Given the description of an element on the screen output the (x, y) to click on. 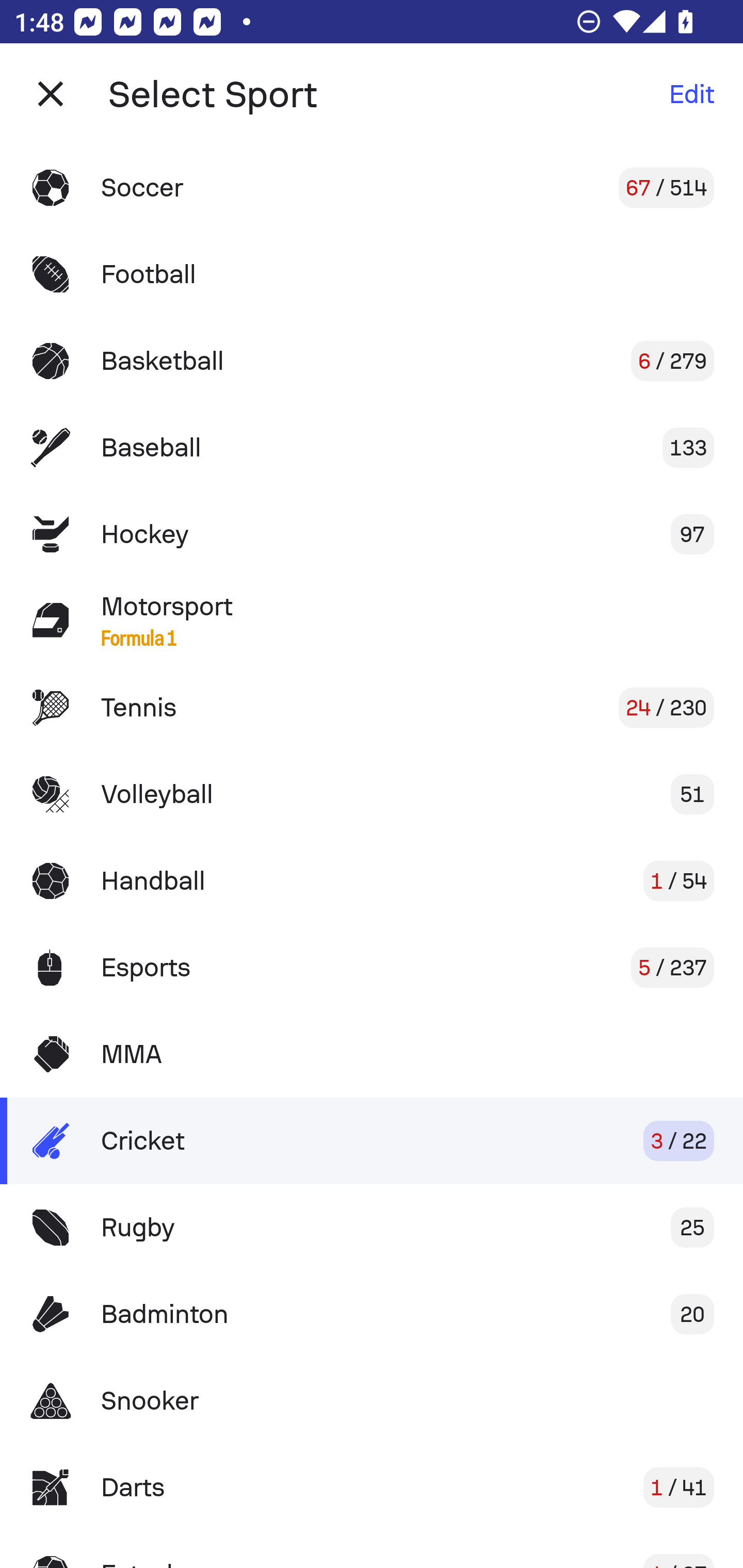
Edit (691, 93)
Soccer 67 / 514 (371, 187)
Football (371, 274)
Basketball 6 / 279 (371, 361)
Baseball 133 (371, 447)
Hockey 97 (371, 533)
Motorsport Formula 1 (371, 620)
Tennis 24 / 230 (371, 707)
Volleyball 51 (371, 794)
Handball 1 / 54 (371, 880)
Esports 5 / 237 (371, 967)
MMA (371, 1054)
Cricket 3 / 22 (371, 1140)
Rugby 25 (371, 1227)
Badminton 20 (371, 1314)
Snooker (371, 1400)
Darts 1 / 41 (371, 1487)
